Given the description of an element on the screen output the (x, y) to click on. 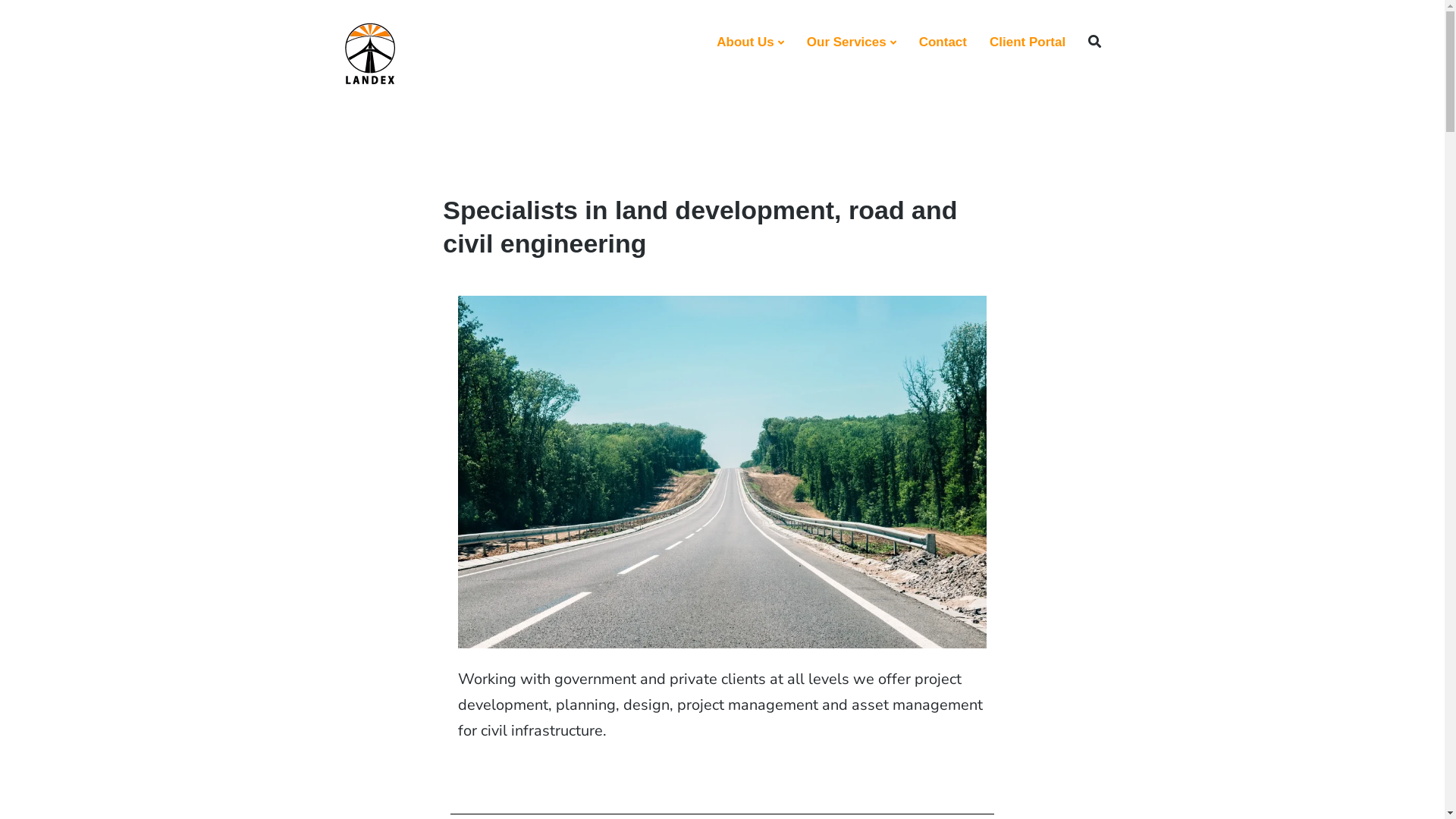
About Us Element type: text (750, 42)
Our Services Element type: text (851, 42)
Client Portal Element type: text (1027, 42)
Contact Element type: text (942, 42)
